Given the description of an element on the screen output the (x, y) to click on. 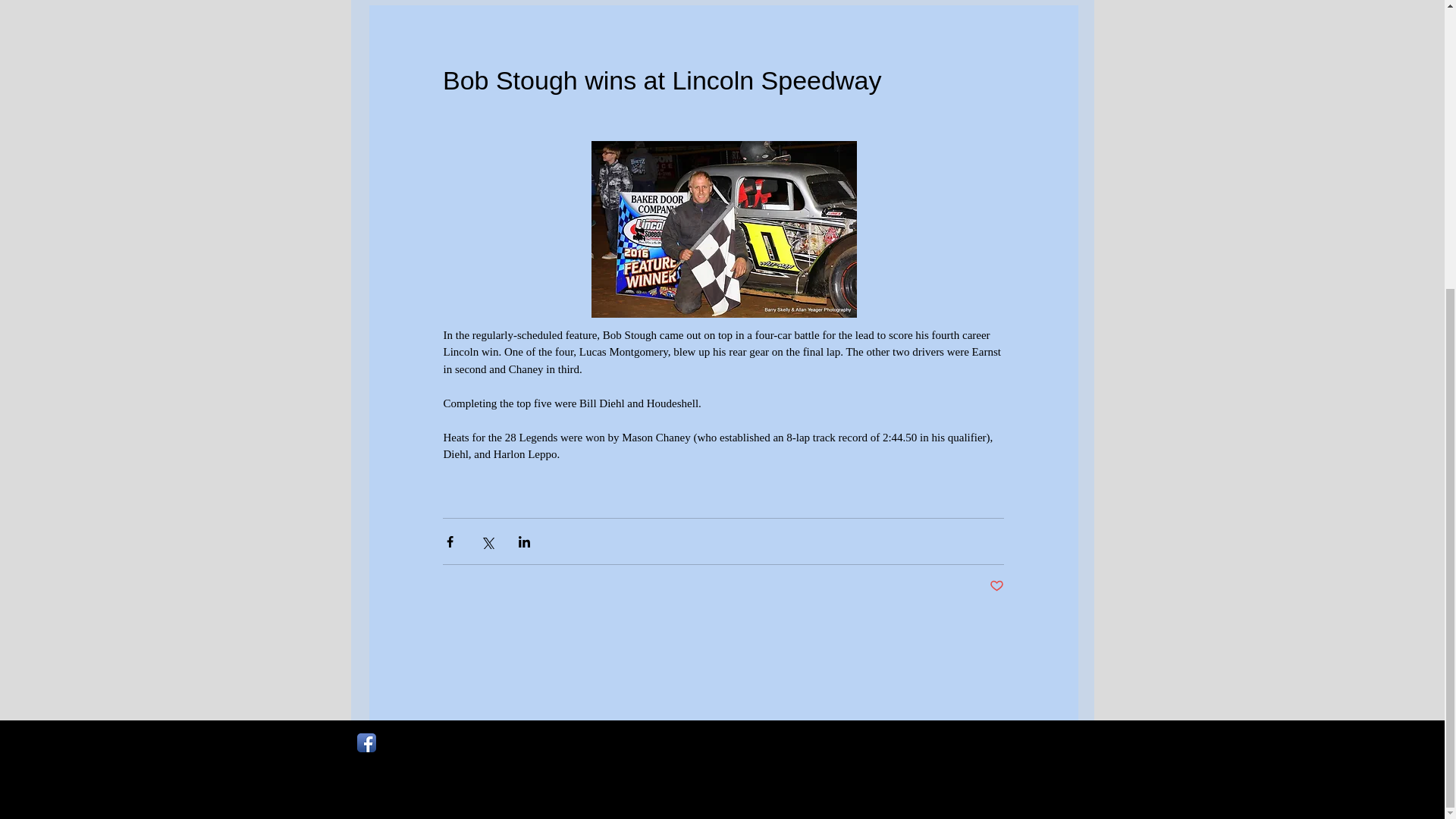
Post not marked as liked (997, 586)
